Given the description of an element on the screen output the (x, y) to click on. 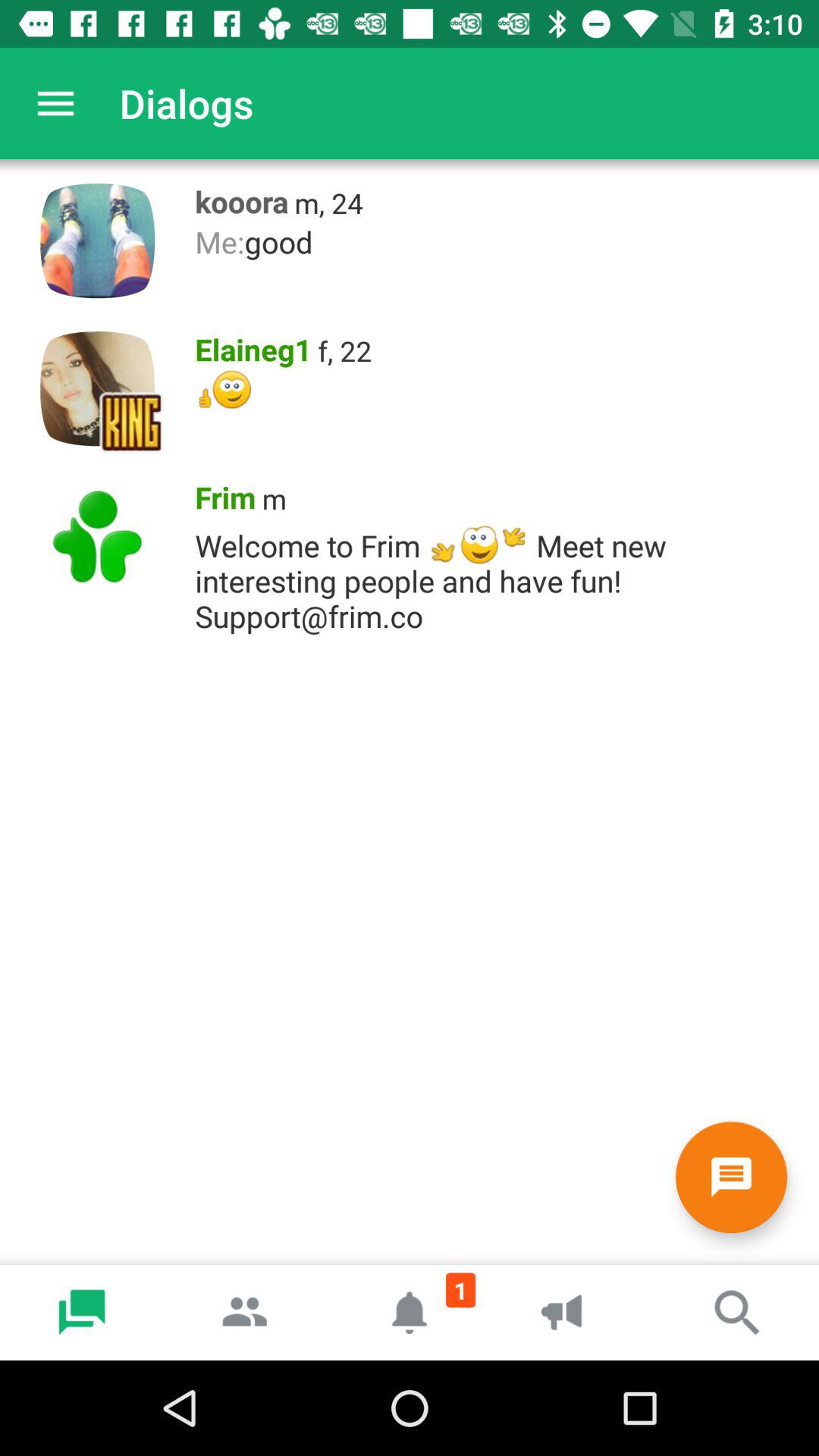
go to message (731, 1177)
